Given the description of an element on the screen output the (x, y) to click on. 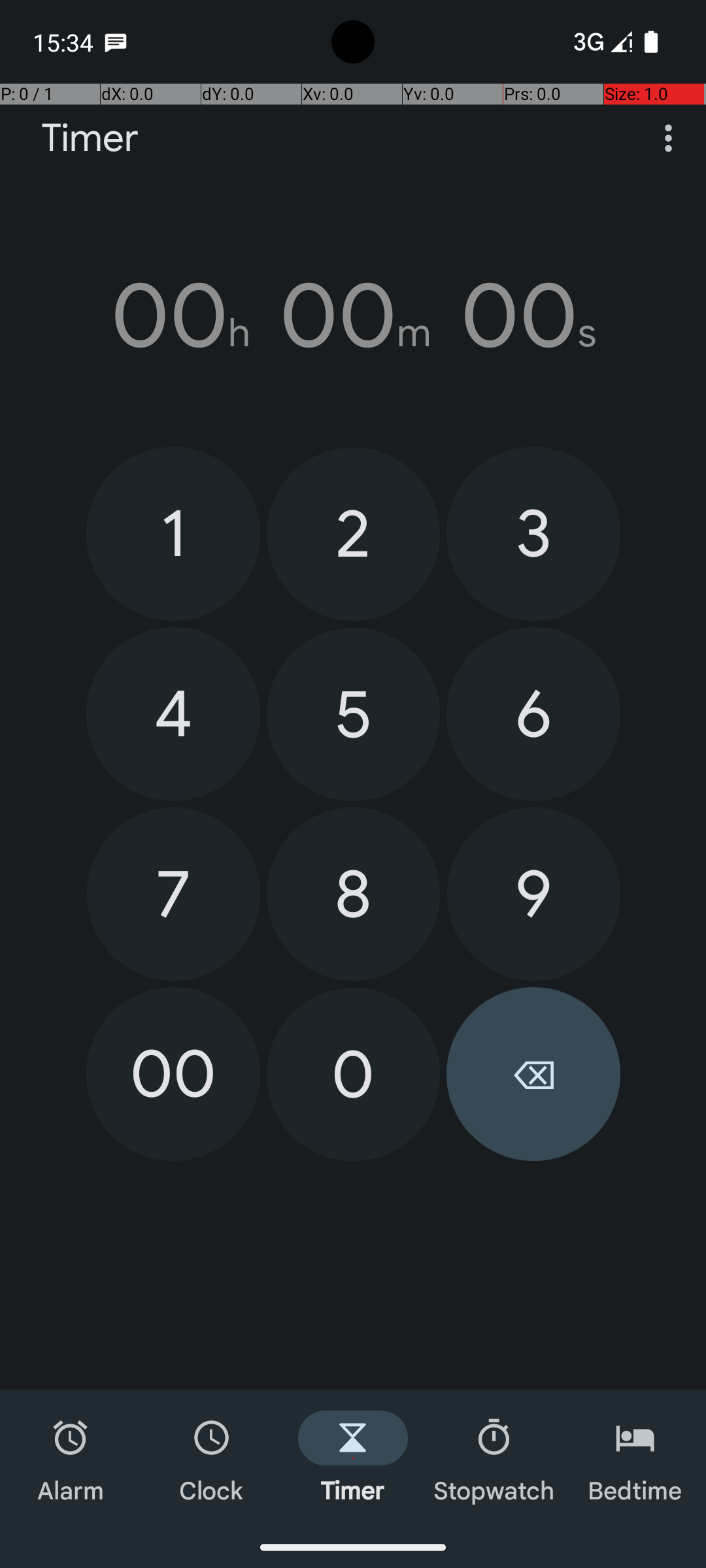
Timer Element type: android.widget.TextView (89, 138)
00h 00m 00s Element type: android.widget.TextView (353, 315)
1 Element type: android.widget.Button (173, 533)
2 Element type: android.widget.Button (352, 533)
3 Element type: android.widget.Button (533, 533)
4 Element type: android.widget.Button (173, 713)
5 Element type: android.widget.Button (352, 713)
6 Element type: android.widget.Button (533, 713)
7 Element type: android.widget.Button (173, 893)
8 Element type: android.widget.Button (352, 893)
9 Element type: android.widget.Button (533, 893)
00 Element type: android.widget.Button (173, 1073)
0 Element type: android.widget.Button (352, 1073)
⌫ Element type: android.widget.Button (533, 1073)
Alarm Element type: android.widget.FrameLayout (70, 1457)
Clock Element type: android.widget.FrameLayout (211, 1457)
Stopwatch Element type: android.widget.FrameLayout (493, 1457)
Bedtime Element type: android.widget.FrameLayout (635, 1457)
